Given the description of an element on the screen output the (x, y) to click on. 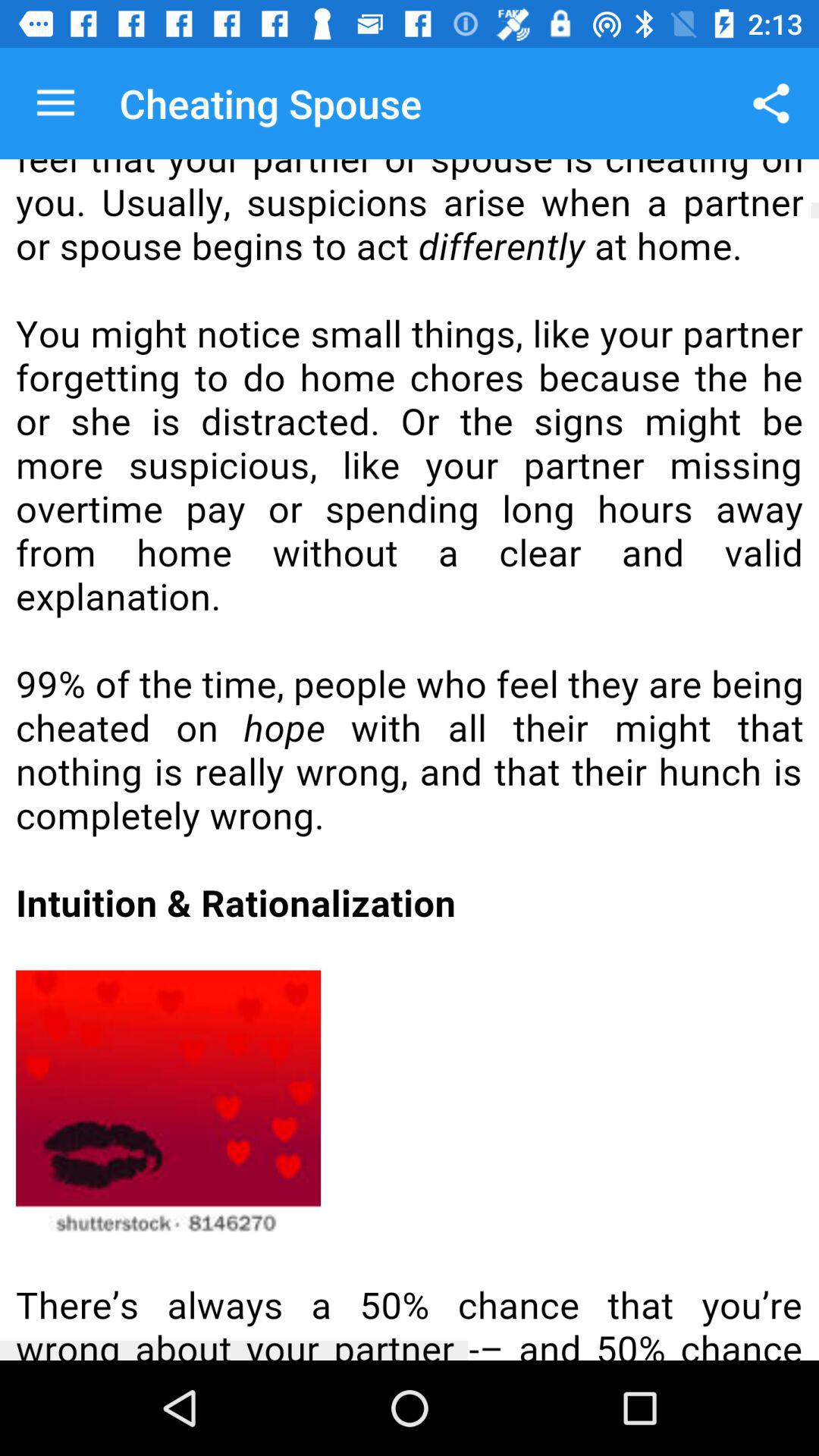
all selected content (409, 759)
